Given the description of an element on the screen output the (x, y) to click on. 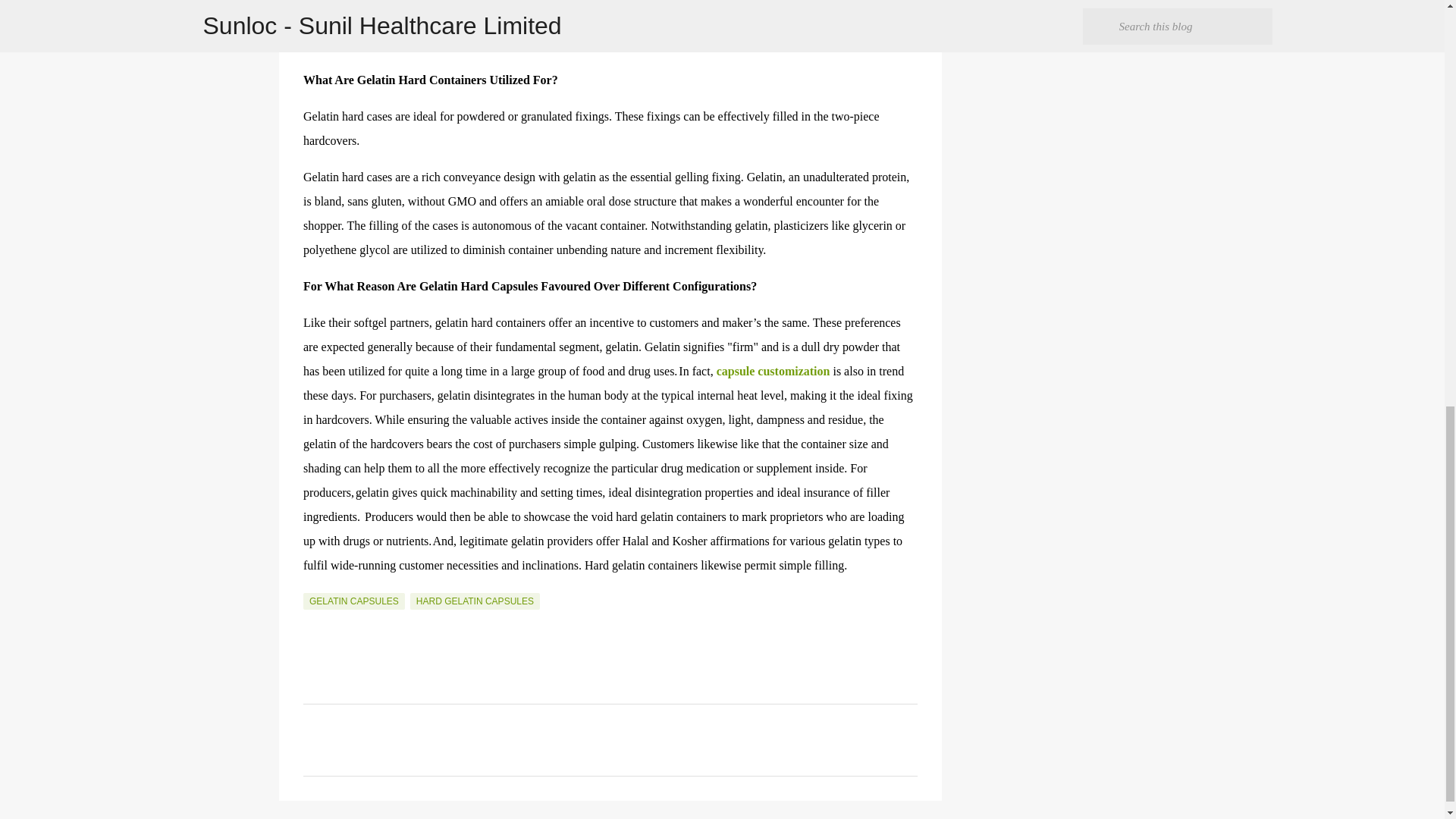
capsule customization (772, 370)
HARD GELATIN CAPSULES (475, 600)
GELATIN CAPSULES (353, 600)
